Given the description of an element on the screen output the (x, y) to click on. 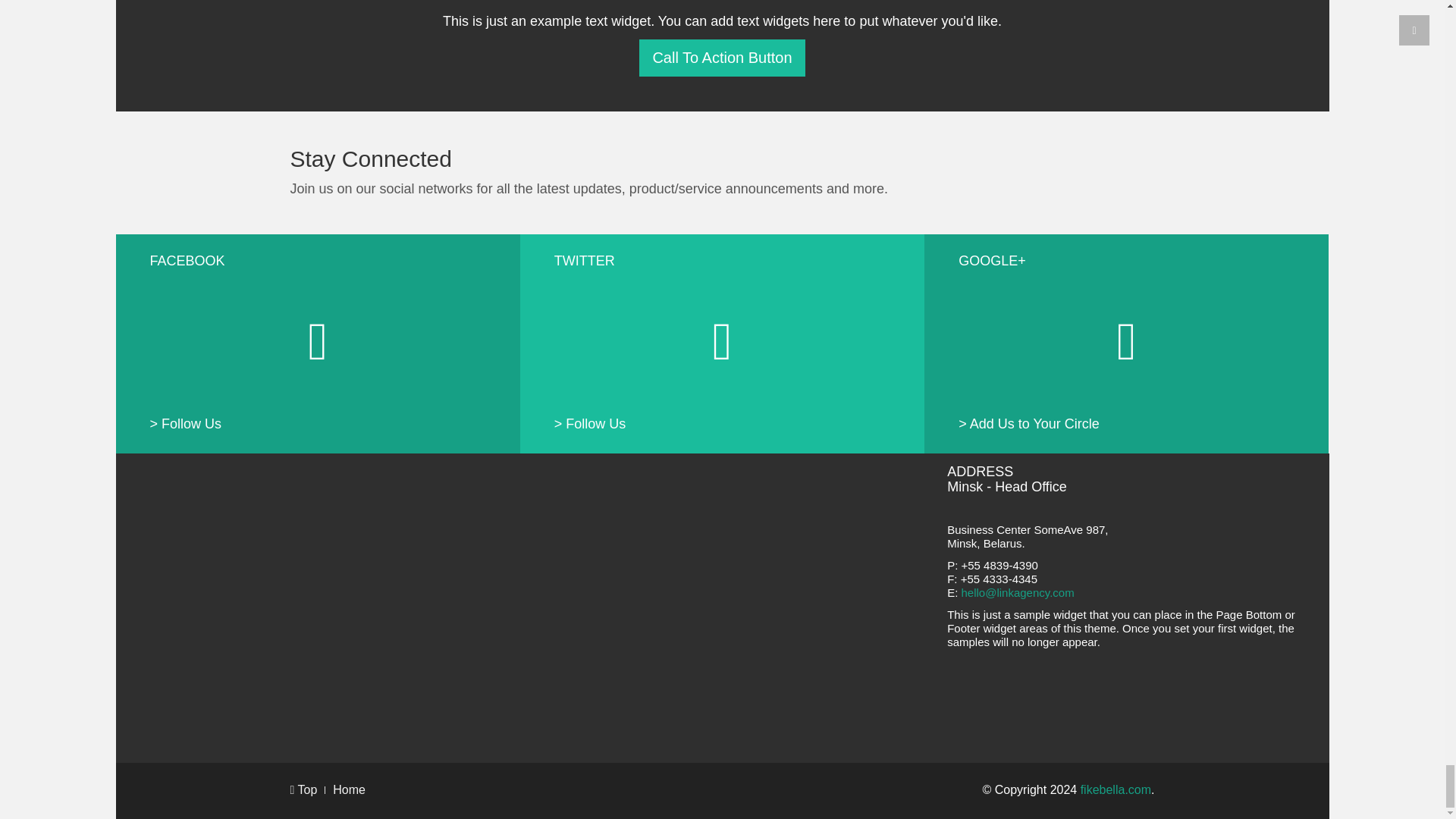
Home (349, 789)
Top (303, 789)
Back to top of page (303, 789)
